Given the description of an element on the screen output the (x, y) to click on. 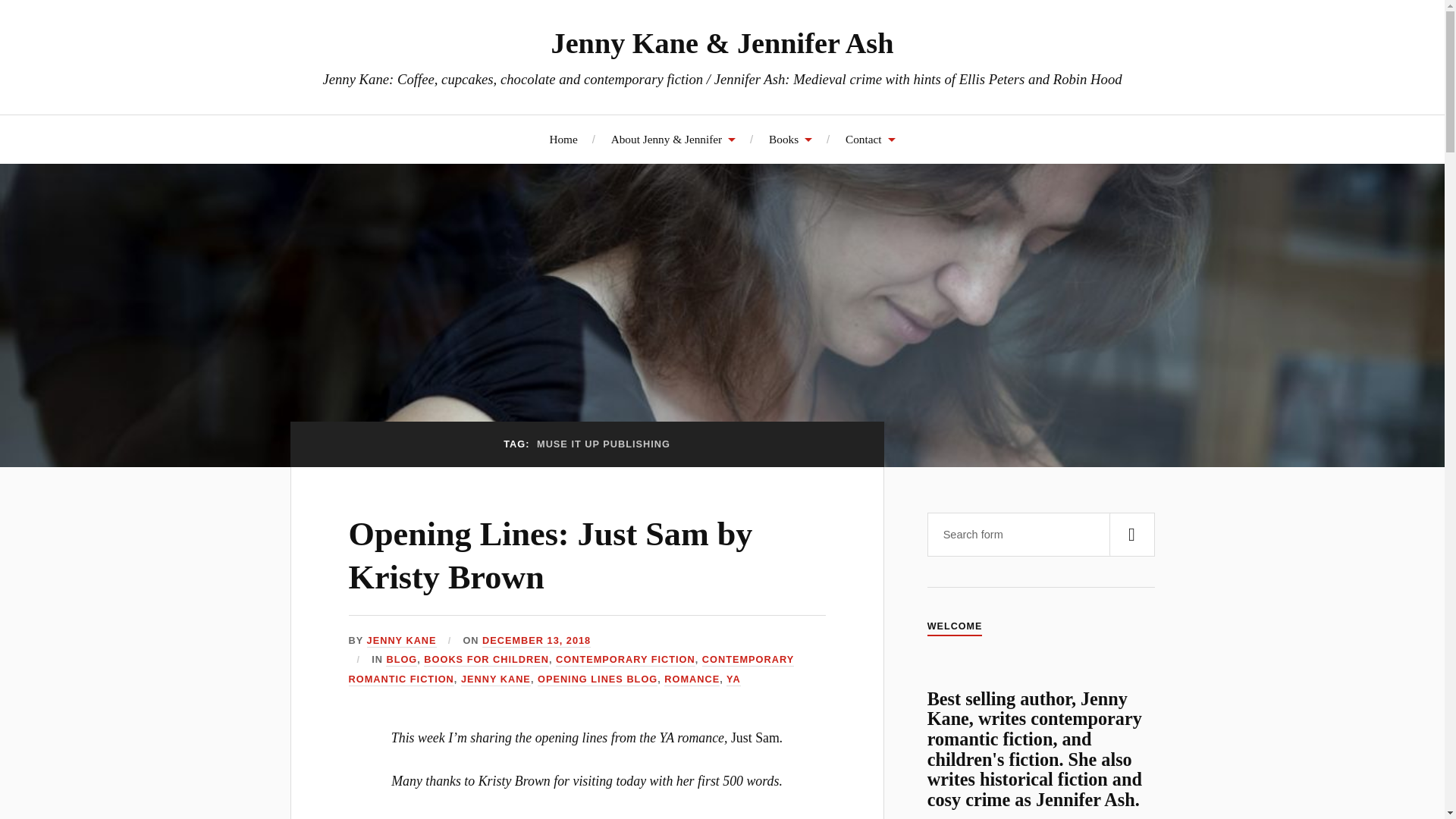
ROMANCE (691, 679)
YA (733, 679)
Books (790, 138)
CONTEMPORARY FICTION (625, 659)
BOOKS FOR CHILDREN (485, 659)
Contact (870, 138)
OPENING LINES BLOG (597, 679)
BLOG (400, 659)
Posts by Jenny Kane (401, 640)
Home (562, 138)
JENNY KANE (496, 679)
CONTEMPORARY ROMANTIC FICTION (571, 669)
JENNY KANE (401, 640)
DECEMBER 13, 2018 (536, 640)
Opening Lines: Just Sam by Kristy Brown (550, 555)
